Given the description of an element on the screen output the (x, y) to click on. 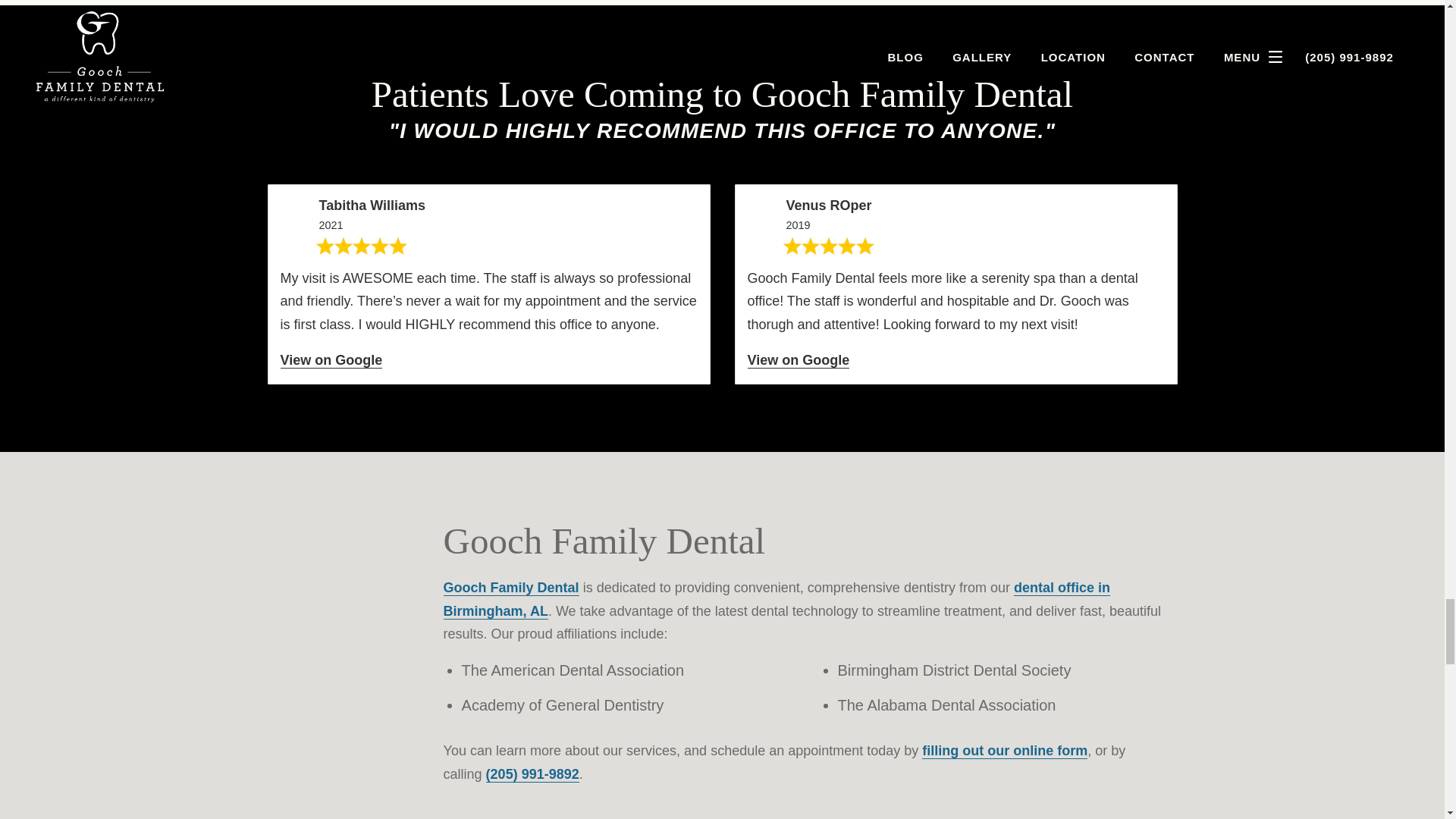
View on Google (331, 360)
Gooch Family Dental (511, 587)
View on Google (799, 360)
